Given the description of an element on the screen output the (x, y) to click on. 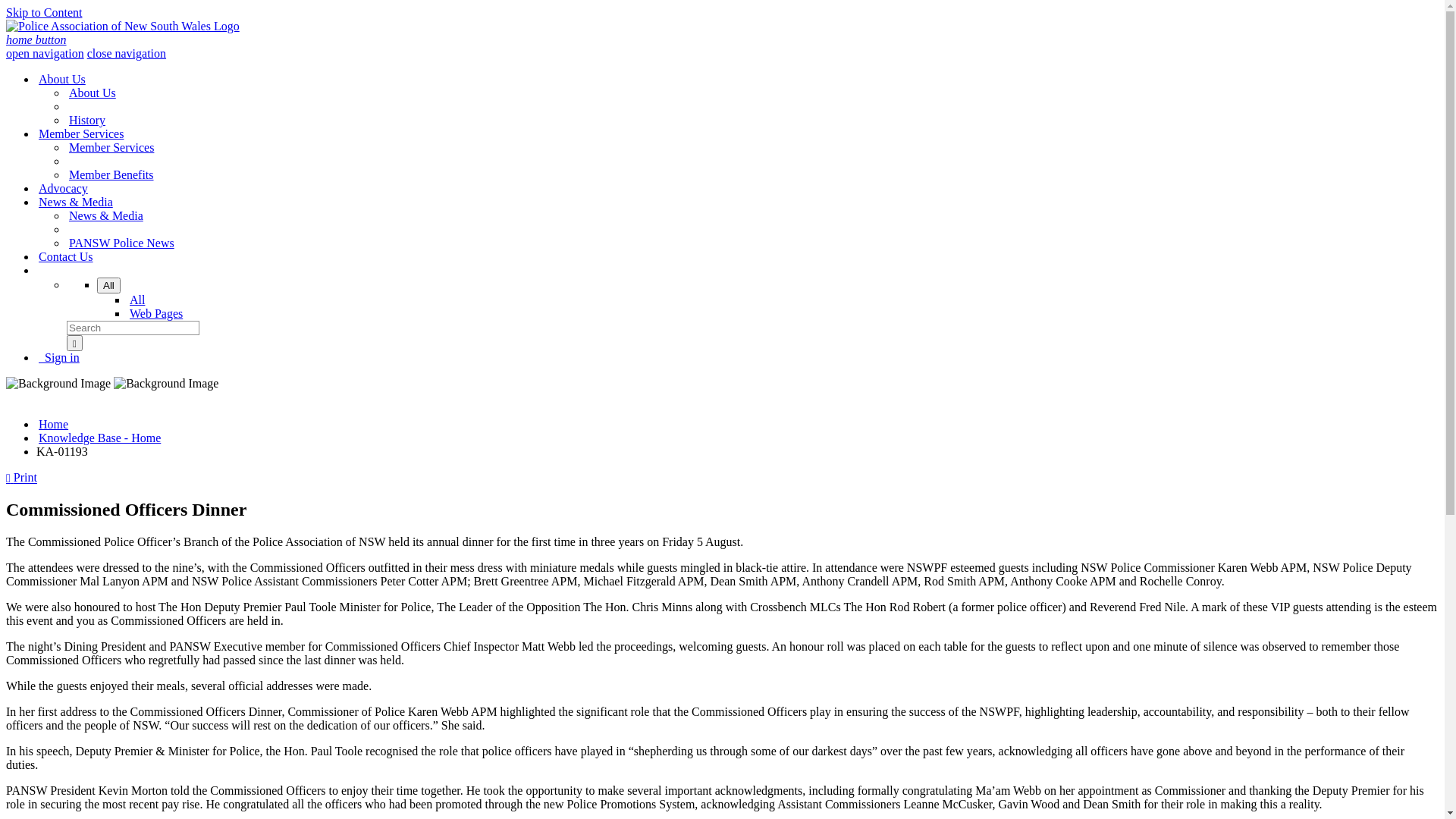
History Element type: text (87, 119)
Search Element type: hover (132, 327)
Member Services Element type: text (111, 147)
Skip to Content Element type: text (43, 12)
All Element type: text (136, 299)
PANSW Police News Element type: text (121, 242)
home button Element type: text (36, 39)
News & Media Element type: text (75, 201)
  Sign in Element type: text (58, 357)
close navigation Element type: text (126, 53)
About Us Element type: text (61, 78)
About Us Element type: text (92, 92)
Member Benefits Element type: text (111, 174)
All Element type: text (108, 285)
Home Element type: text (53, 423)
Member Services Element type: text (80, 133)
open navigation Element type: text (45, 53)
Advocacy Element type: text (62, 188)
Contact Us Element type: text (65, 256)
Web Pages Element type: text (155, 313)
News & Media Element type: text (106, 215)
Search Element type: hover (74, 343)
Print Element type: text (21, 477)
Knowledge Base - Home Element type: text (99, 437)
